Given the description of an element on the screen output the (x, y) to click on. 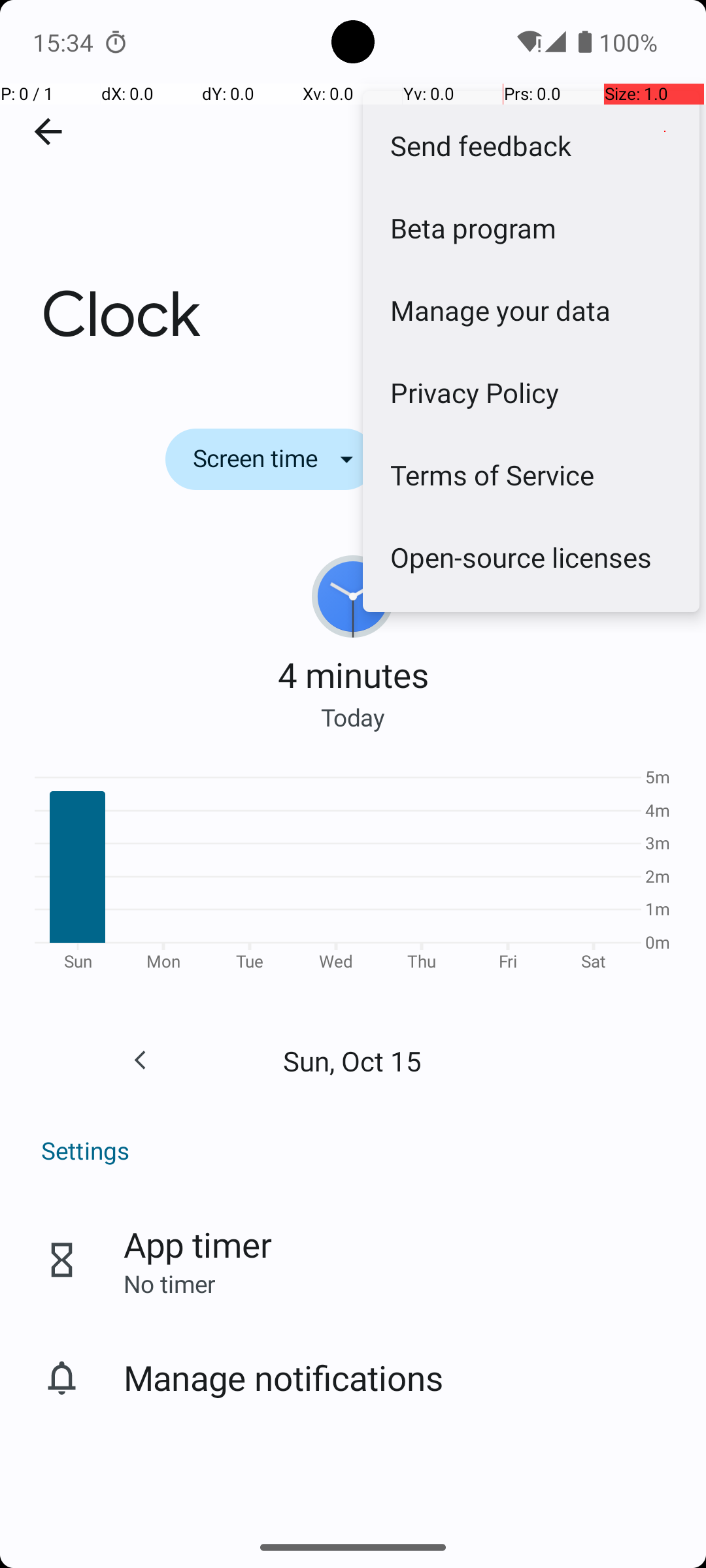
Beta program Element type: android.widget.TextView (531, 227)
Manage your data Element type: android.widget.TextView (531, 309)
Open-source licenses Element type: android.widget.TextView (531, 556)
